Given the description of an element on the screen output the (x, y) to click on. 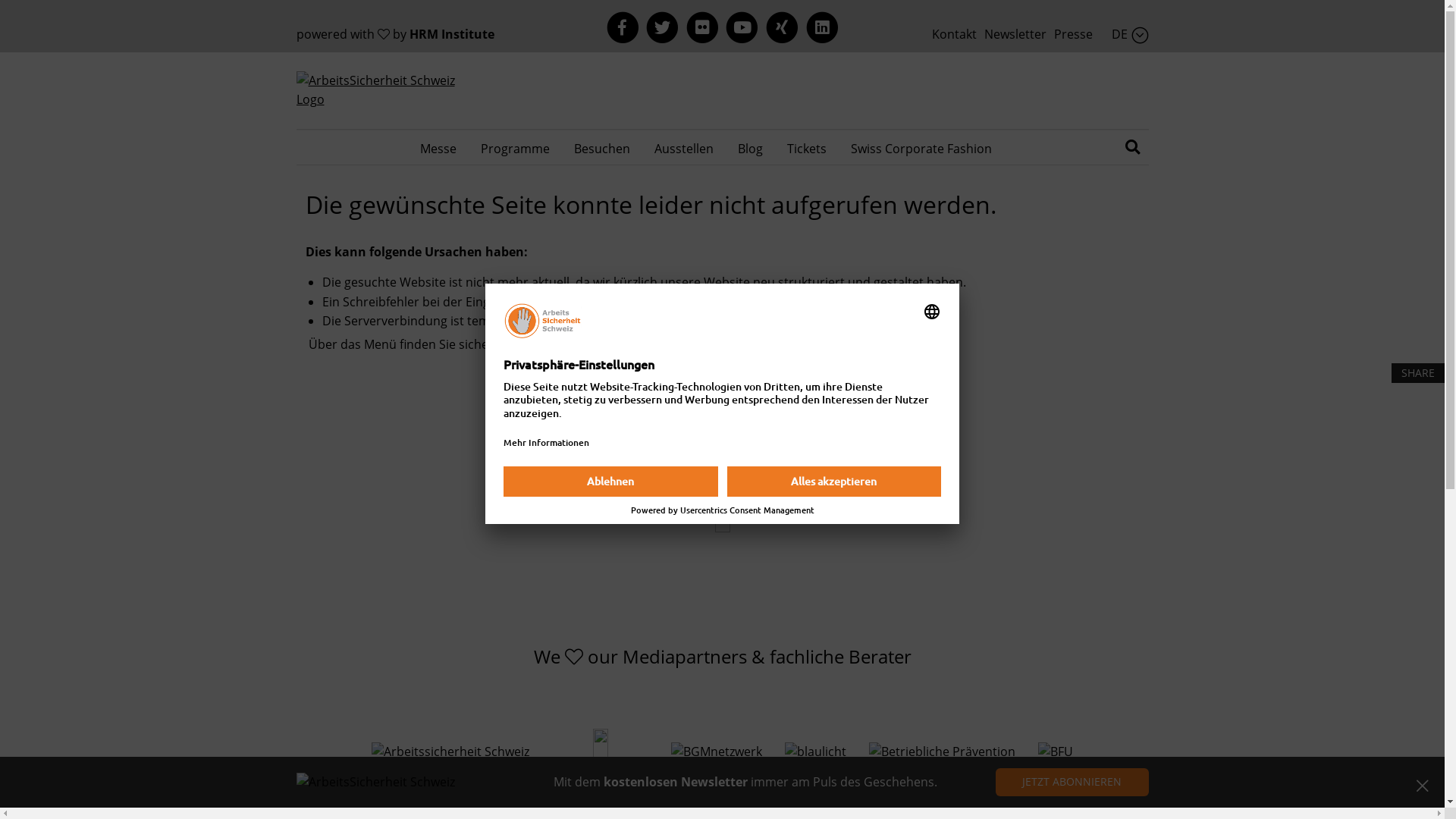
BGMnetzwerk Element type: hover (716, 752)
LinkedIn Element type: hover (822, 26)
Xing Element type: hover (782, 26)
Flickr Element type: hover (702, 26)
Ausstellen Element type: text (683, 147)
Besuchen Element type: text (601, 147)
Messe Element type: text (437, 147)
Kontakt Element type: text (954, 33)
Programme Element type: text (514, 147)
JETZT ABONNIEREN Element type: text (1071, 782)
Youtube Element type: hover (741, 26)
Blog Element type: text (750, 147)
blaulicht Element type: hover (815, 752)
Mit dem kostenlosen Newsletter immer am Puls des Geschehens. Element type: text (745, 782)
Facebook Element type: hover (622, 26)
ArbeitsSicherheit Schweiz Element type: hover (374, 782)
Twitter Element type: hover (662, 26)
BFU Element type: hover (1055, 752)
Arbeitssicherheit Schweiz Element type: hover (450, 752)
Swiss Corporate Fashion Element type: text (921, 147)
ArbeitsSicherheit Schweiz Logo Element type: hover (382, 90)
Presse Element type: text (1073, 33)
Newsletter Element type: text (1015, 33)
Tickets Element type: text (806, 147)
